Given the description of an element on the screen output the (x, y) to click on. 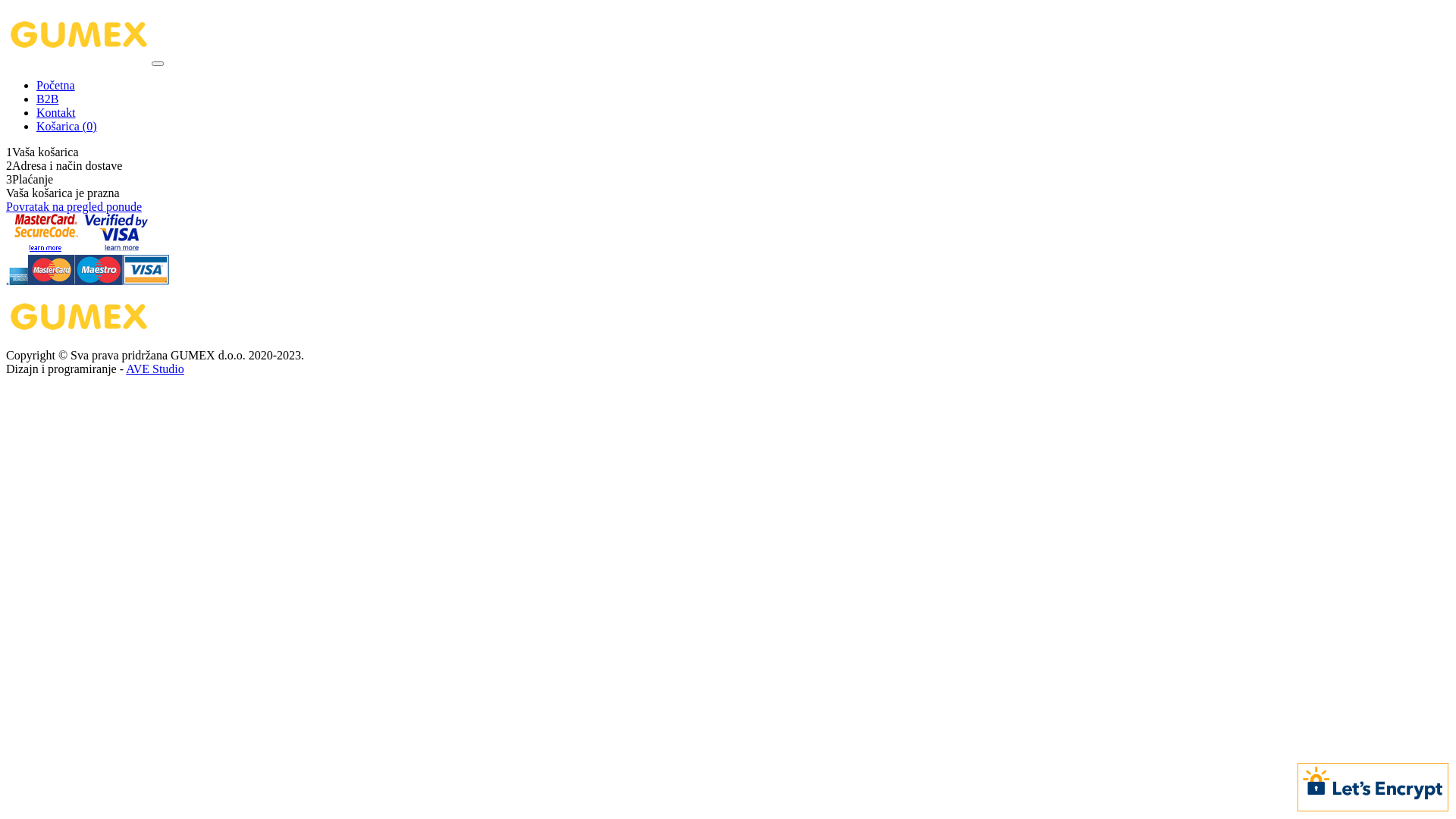
Visa Element type: hover (145, 280)
MasterCard Element type: hover (51, 280)
B2B Element type: text (47, 98)
Maestro Element type: hover (98, 280)
American Express Element type: hover (17, 280)
Kontakt Element type: text (55, 112)
Lets Encrypt Element type: hover (1372, 785)
Verified By Visa Element type: hover (115, 247)
Povratak na pregled ponude Element type: text (73, 206)
AVE Studio Element type: text (154, 368)
